Given the description of an element on the screen output the (x, y) to click on. 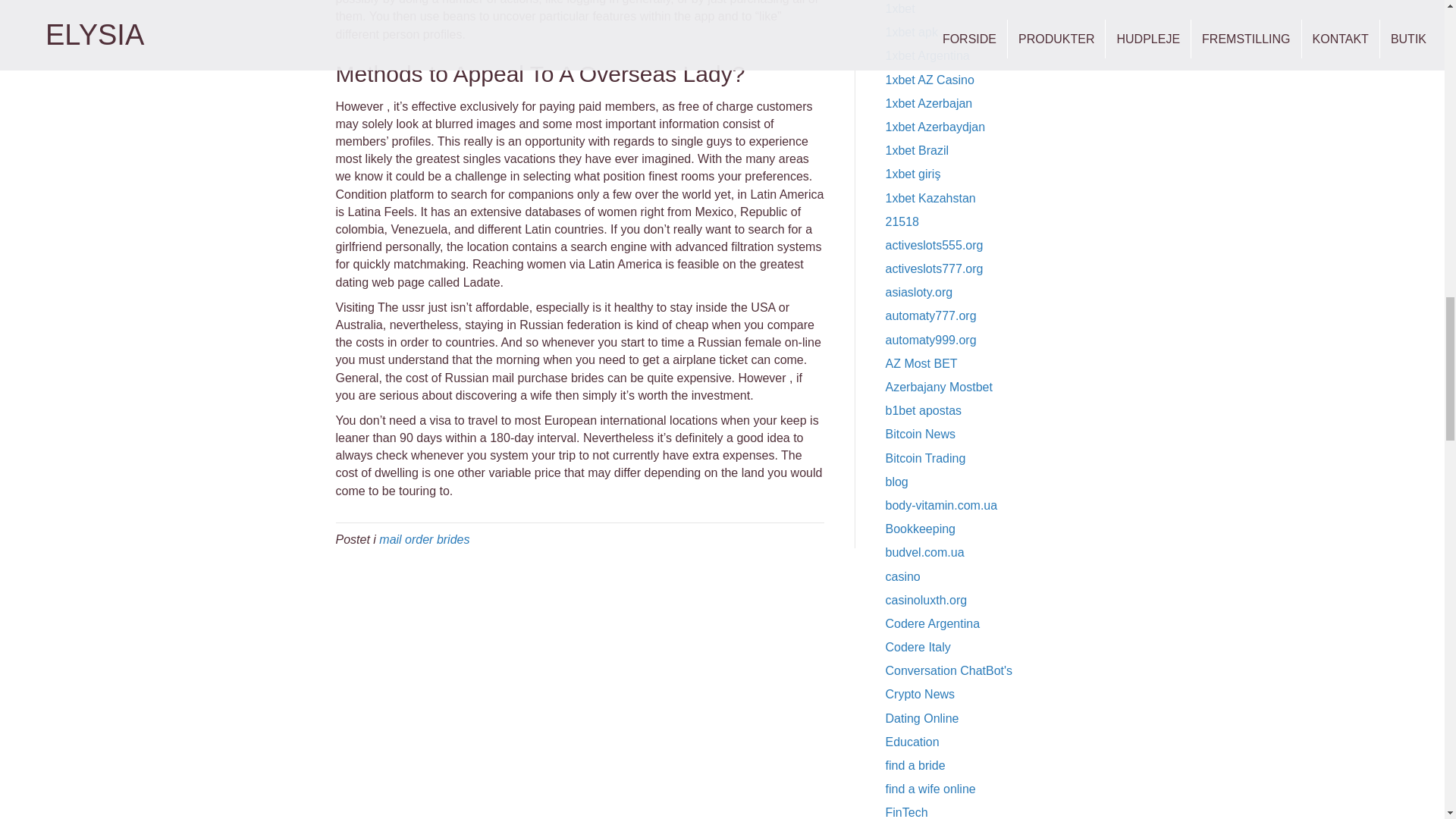
mail order brides (423, 539)
